Given the description of an element on the screen output the (x, y) to click on. 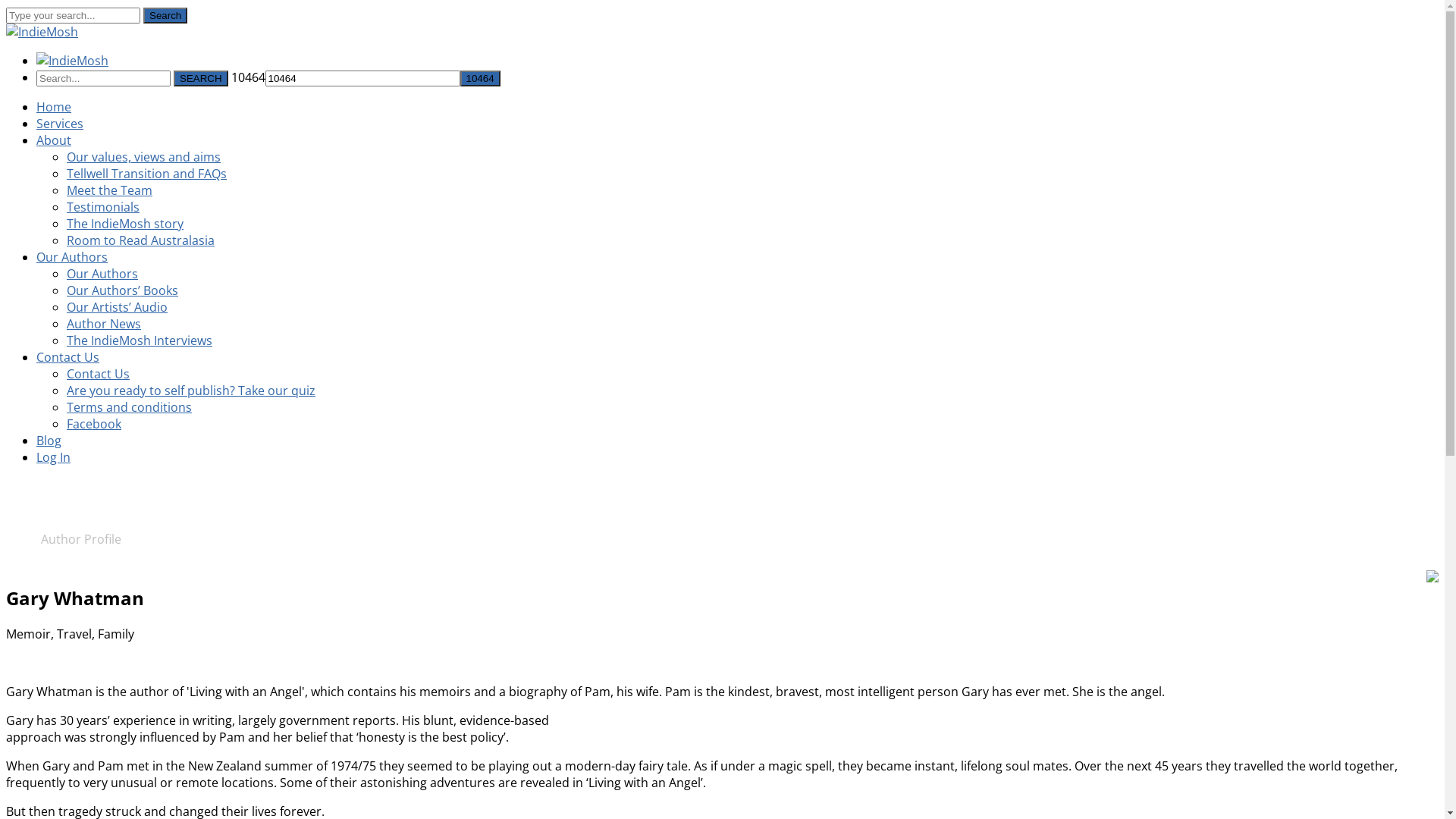
Services Element type: text (59, 123)
Contact Us Element type: text (97, 373)
Author News Element type: text (103, 323)
Terms and conditions Element type: text (128, 406)
Meet the Team Element type: text (109, 190)
The IndieMosh Interviews Element type: text (139, 340)
Tellwell Transition and FAQs Element type: text (146, 173)
SEARCH Element type: text (200, 78)
Search for: Element type: hover (103, 78)
Home Element type: text (53, 106)
About Element type: text (53, 139)
Are you ready to self publish? Take our quiz Element type: text (190, 390)
Blog Element type: text (48, 440)
Home Element type: text (23, 538)
Search Element type: text (165, 15)
Facebook Element type: text (93, 423)
Log In Element type: text (53, 456)
IndieMosh Element type: hover (42, 31)
10464 Element type: text (480, 78)
Testimonials Element type: text (102, 206)
Our Authors Element type: text (71, 256)
Room to Read Australasia Element type: text (140, 240)
Our values, views and aims Element type: text (143, 156)
Contact Us Element type: text (67, 356)
The IndieMosh story Element type: text (124, 223)
Our Authors Element type: text (102, 273)
